Given the description of an element on the screen output the (x, y) to click on. 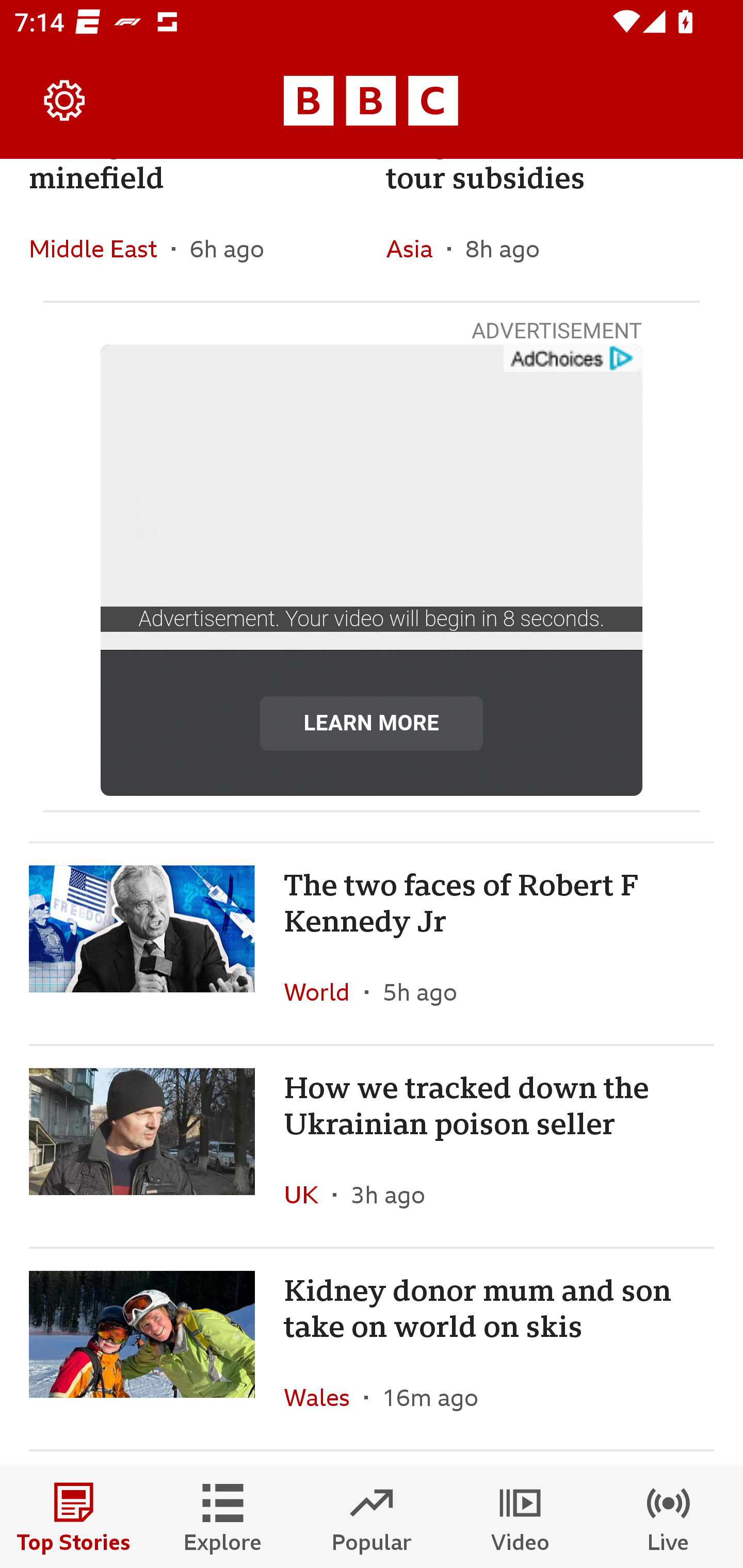
Settings (64, 100)
Middle East In the section Middle East (99, 248)
Asia In the section Asia (416, 248)
get?name=admarker-full-tl (571, 358)
LEARN MORE (371, 722)
World In the section World (323, 991)
UK In the section UK (307, 1194)
Wales In the section Wales (323, 1396)
Explore (222, 1517)
Popular (371, 1517)
Video (519, 1517)
Live (668, 1517)
